Given the description of an element on the screen output the (x, y) to click on. 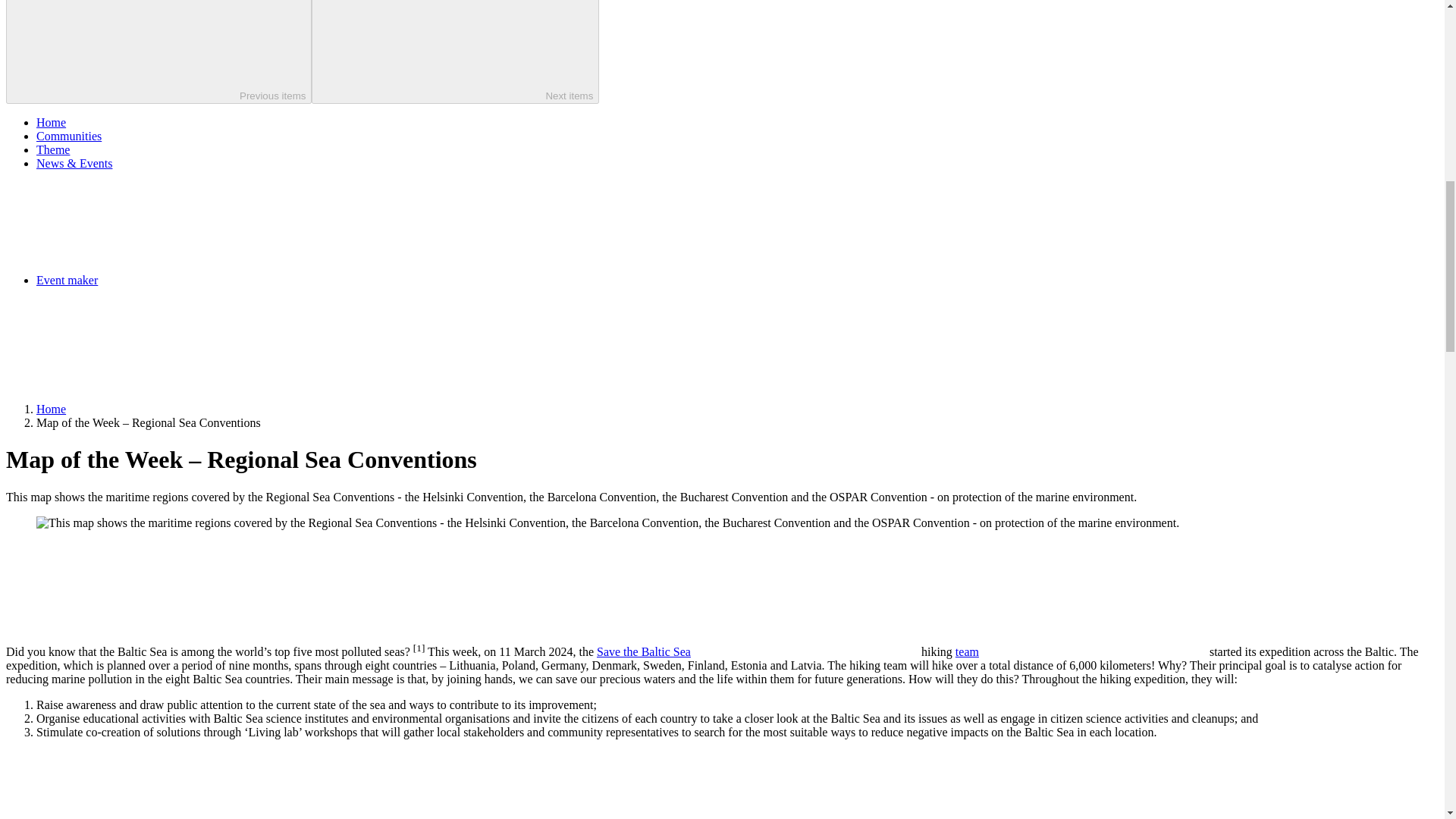
Next items (454, 52)
Home (50, 408)
Previous items (158, 52)
Theme (52, 149)
Home (50, 122)
team (1081, 651)
Event maker (180, 279)
Communities (68, 135)
Save the Baltic Sea (757, 651)
